Given the description of an element on the screen output the (x, y) to click on. 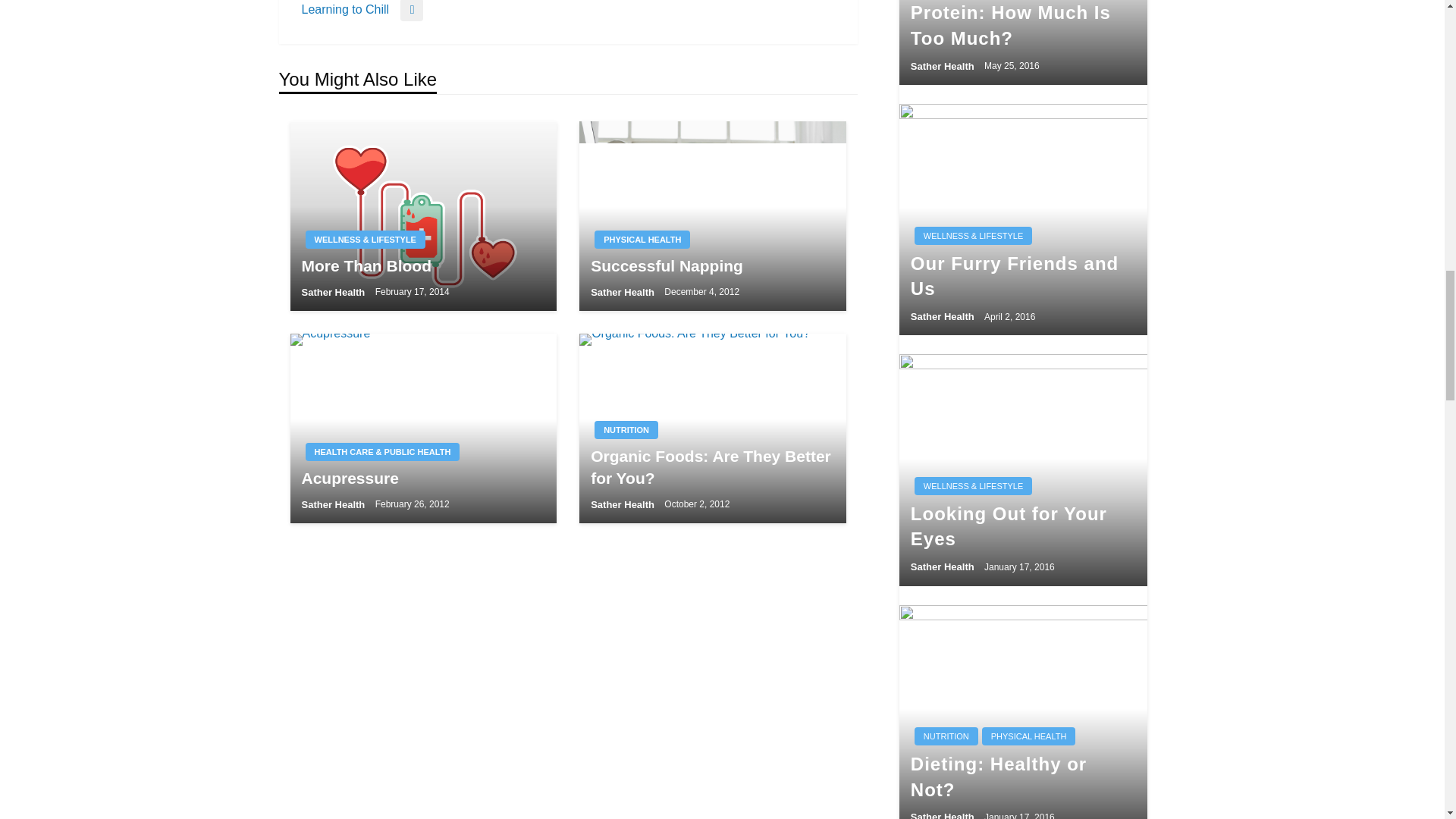
More Than Blood (422, 216)
Successful Napping (712, 216)
Organic Foods: Are They Better for You? (712, 428)
Acupressure (422, 428)
